Given the description of an element on the screen output the (x, y) to click on. 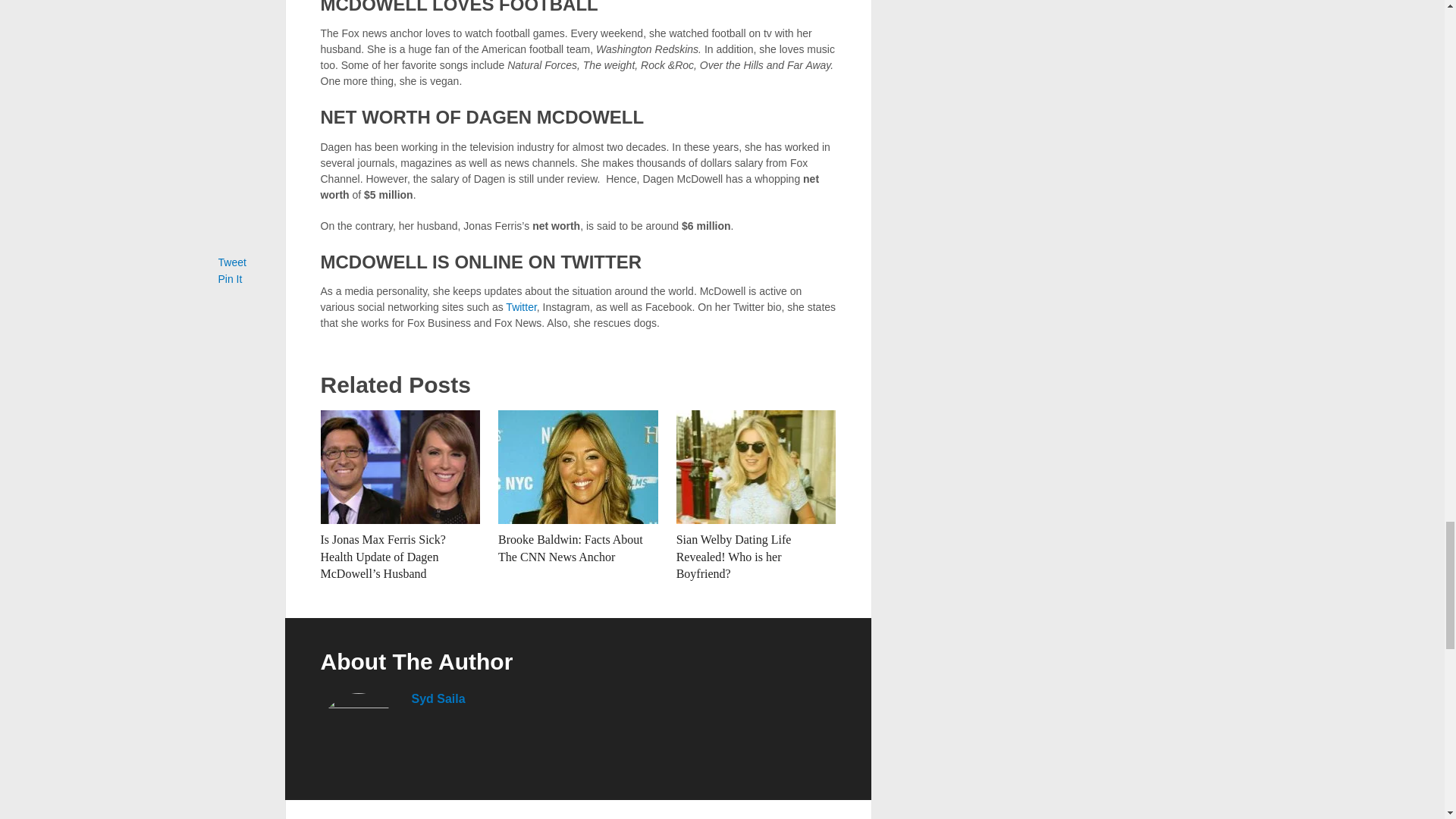
Brooke Baldwin: Facts About The CNN News Anchor (570, 547)
Brooke Baldwin: Facts About The CNN News Anchor (577, 467)
Brooke Baldwin: Facts About The CNN News Anchor (570, 547)
Sian Welby Dating Life Revealed! Who is her Boyfriend? (756, 467)
Sian Welby Dating Life Revealed! Who is her Boyfriend? (734, 556)
Twitter (520, 306)
